Given the description of an element on the screen output the (x, y) to click on. 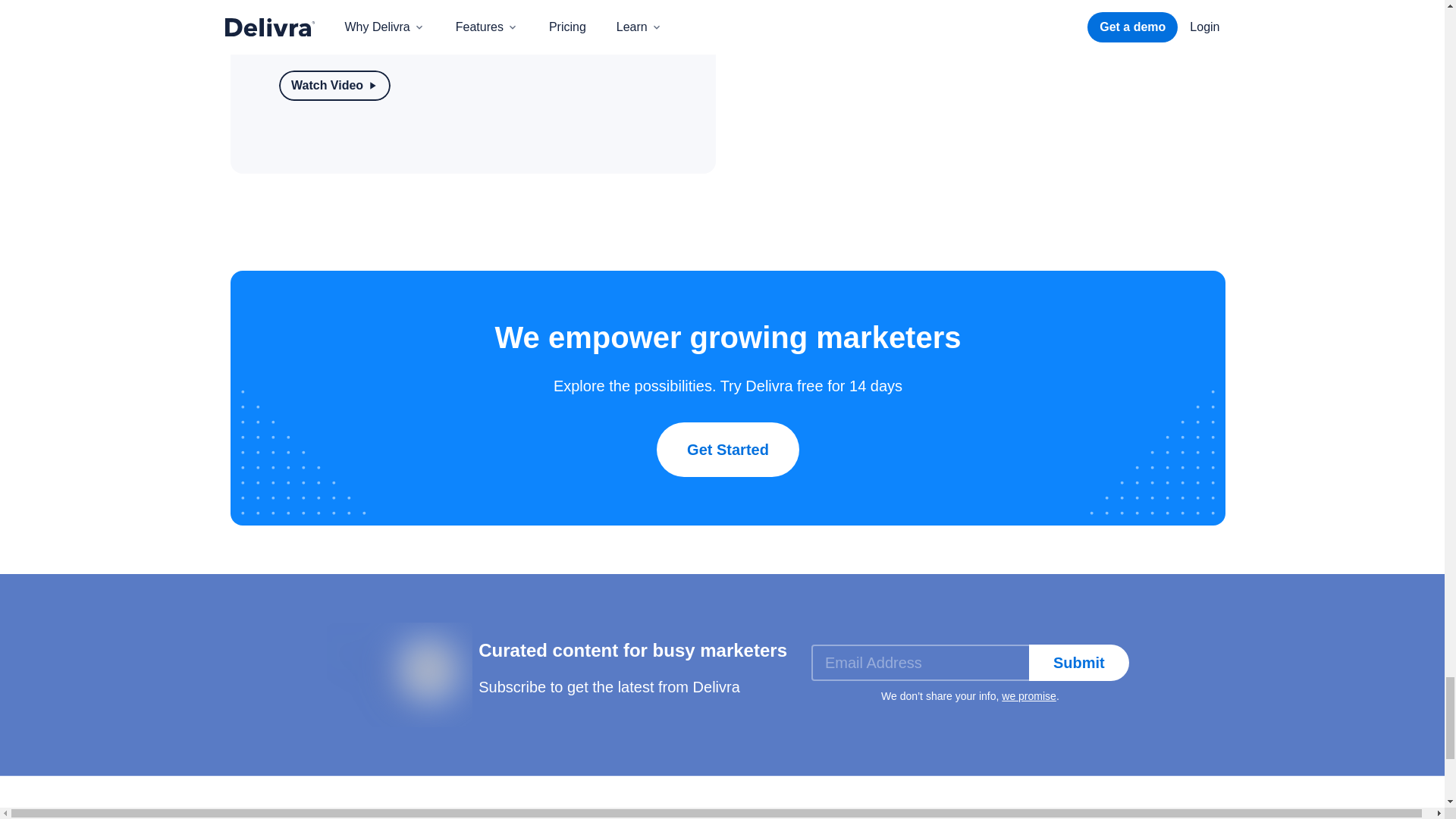
Get Started (727, 449)
Submit (1079, 662)
Watch Video (334, 85)
we promise (1029, 696)
